Given the description of an element on the screen output the (x, y) to click on. 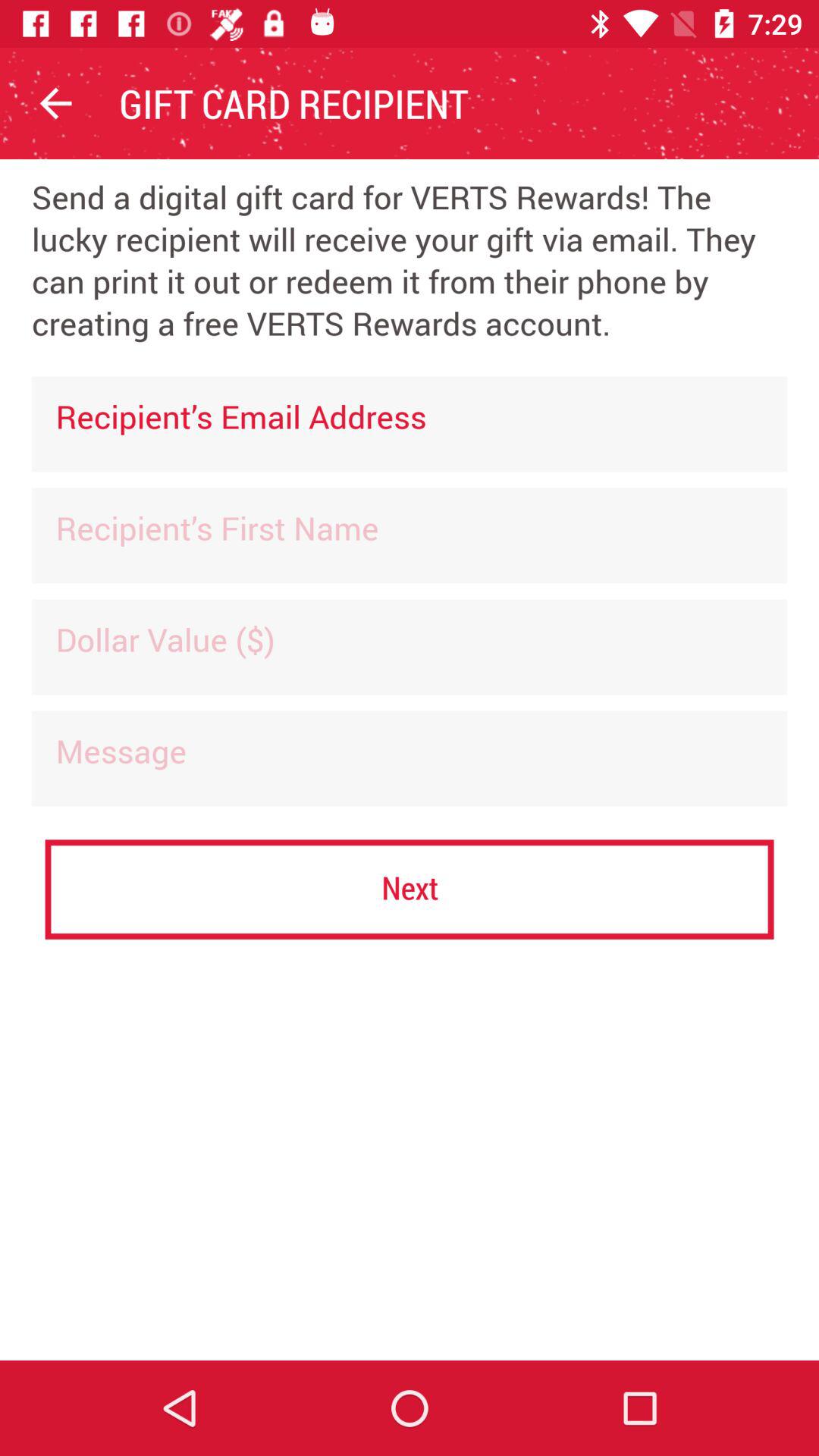
select item next to the gift card recipient (55, 103)
